Given the description of an element on the screen output the (x, y) to click on. 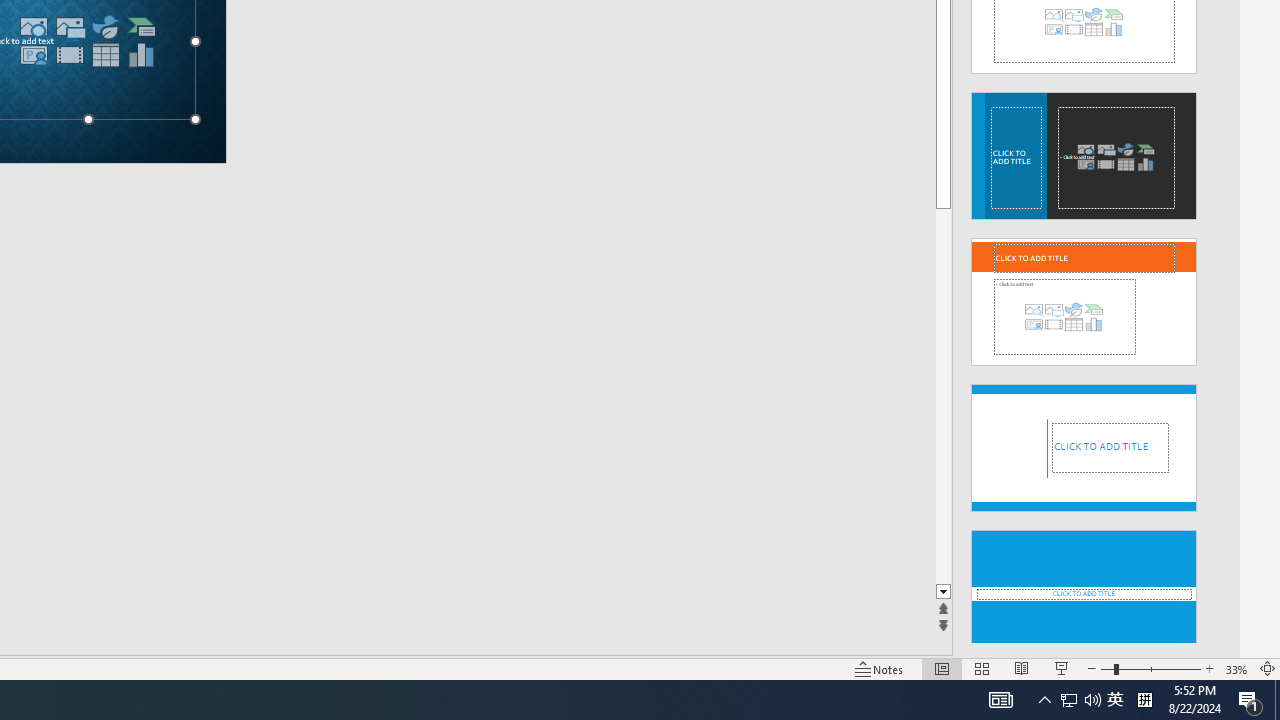
Insert an Icon (105, 26)
Insert Video (69, 55)
Insert Table (105, 55)
Stock Images (33, 26)
Zoom 33% (1236, 668)
Insert Cameo (33, 55)
Insert a SmartArt Graphic (141, 26)
